Given the description of an element on the screen output the (x, y) to click on. 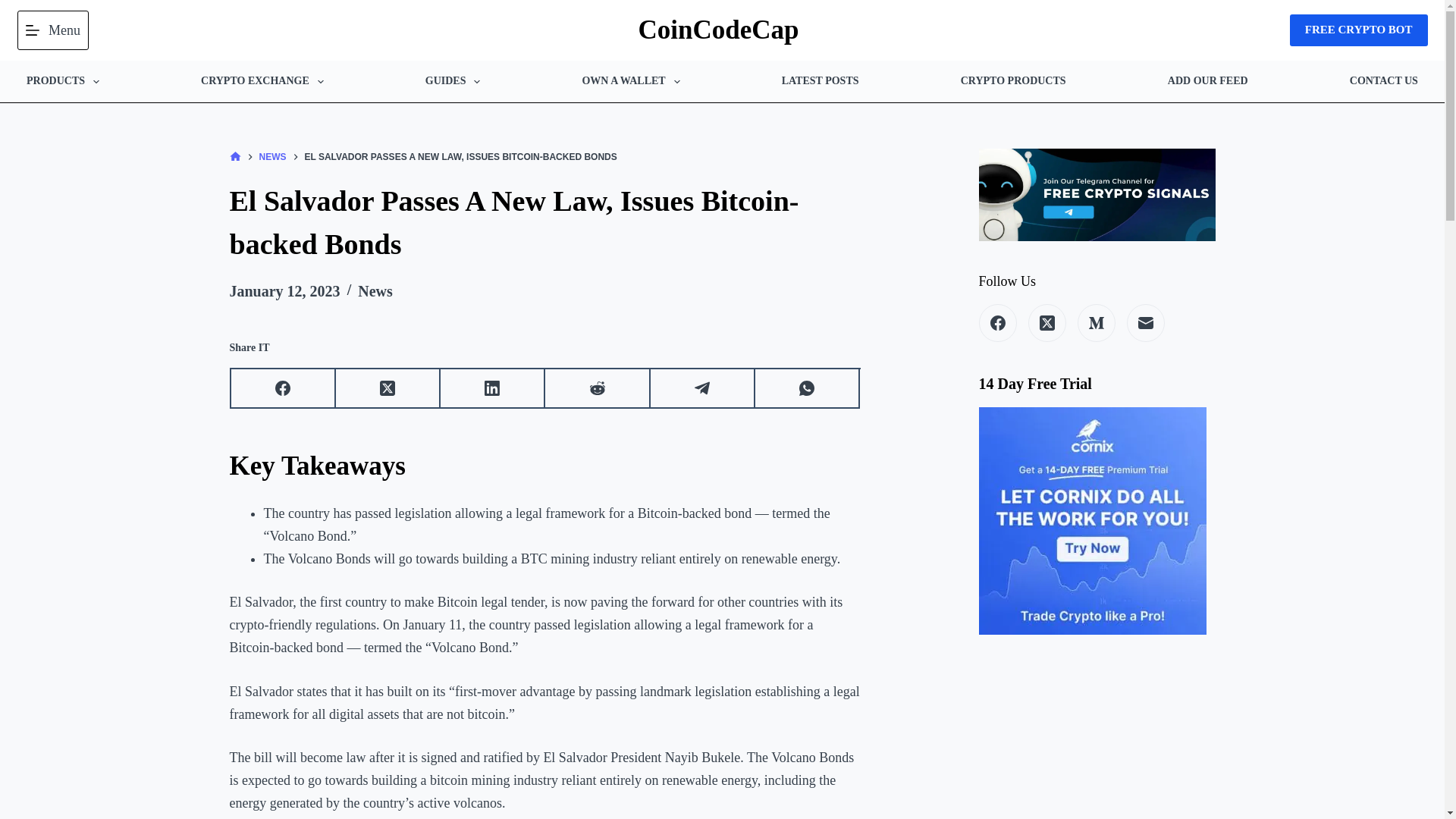
cornix (1091, 519)
3commas (1359, 29)
7 Day Free Trial (1091, 520)
El Salvador Passes A New Law, Issues Bitcoin-backed Bonds (544, 222)
Skip to content (15, 7)
